Given the description of an element on the screen output the (x, y) to click on. 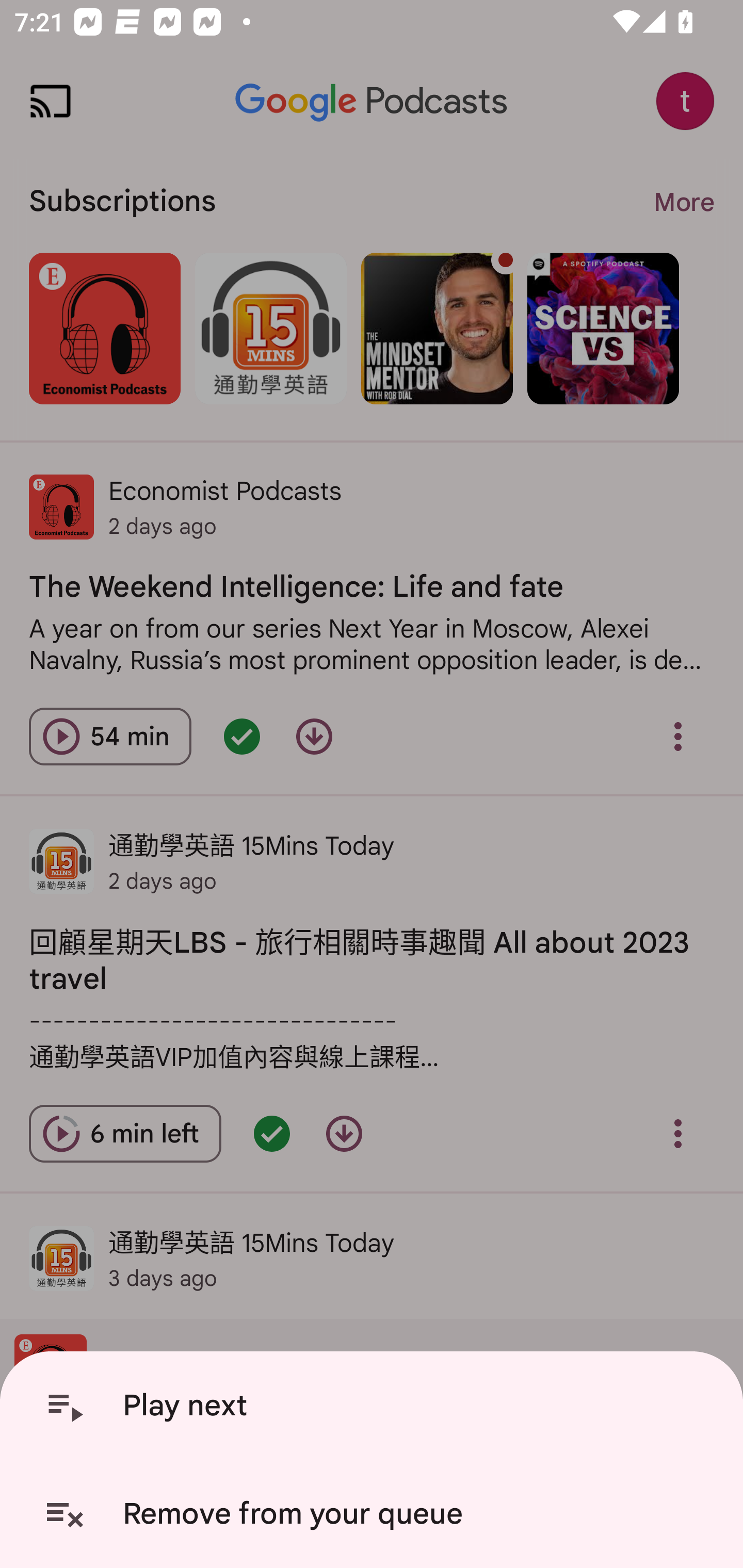
Play next (375, 1405)
Remove from your queue (375, 1513)
